Given the description of an element on the screen output the (x, y) to click on. 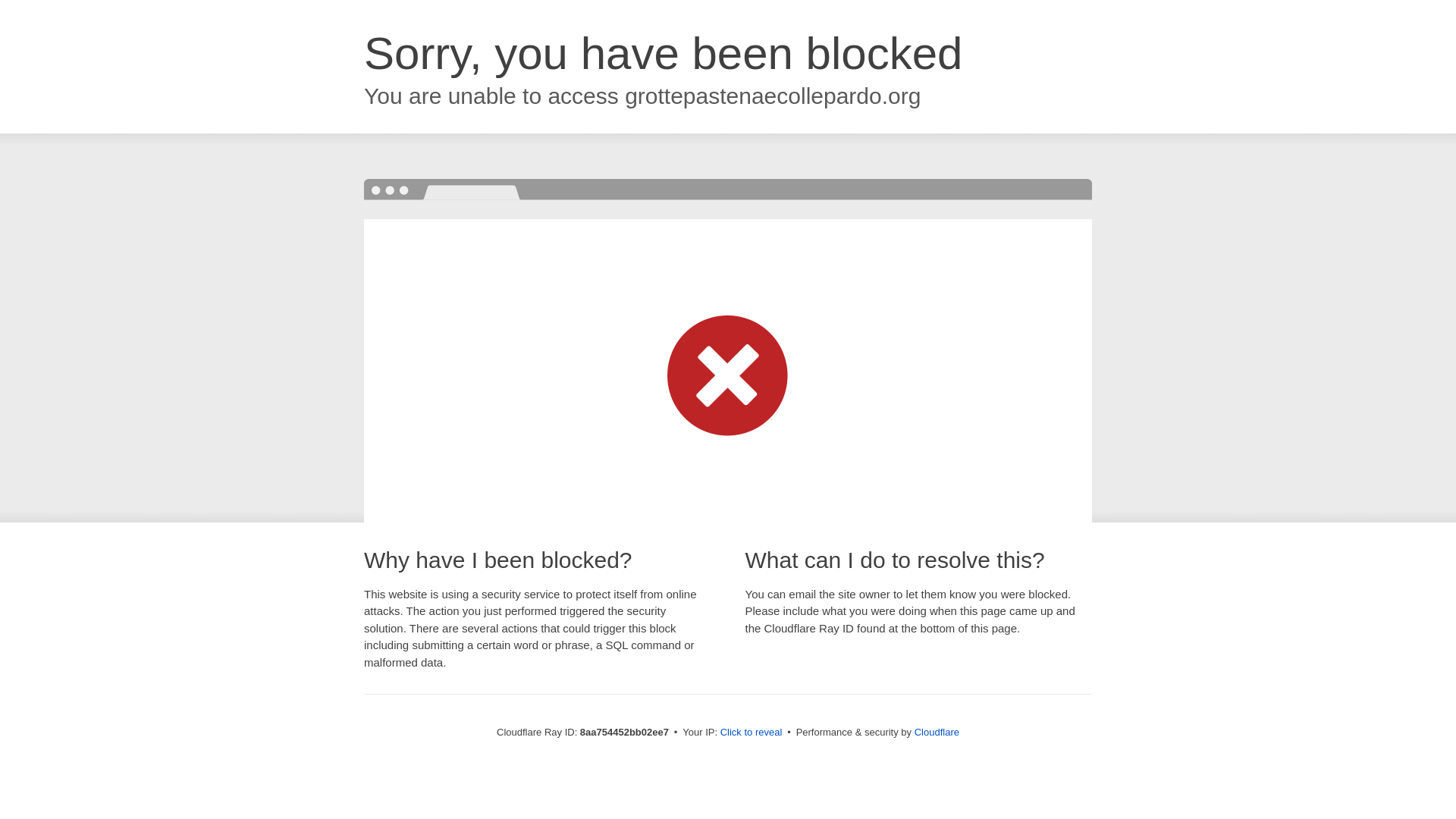
Cloudflare (936, 731)
Click to reveal (751, 732)
